Given the description of an element on the screen output the (x, y) to click on. 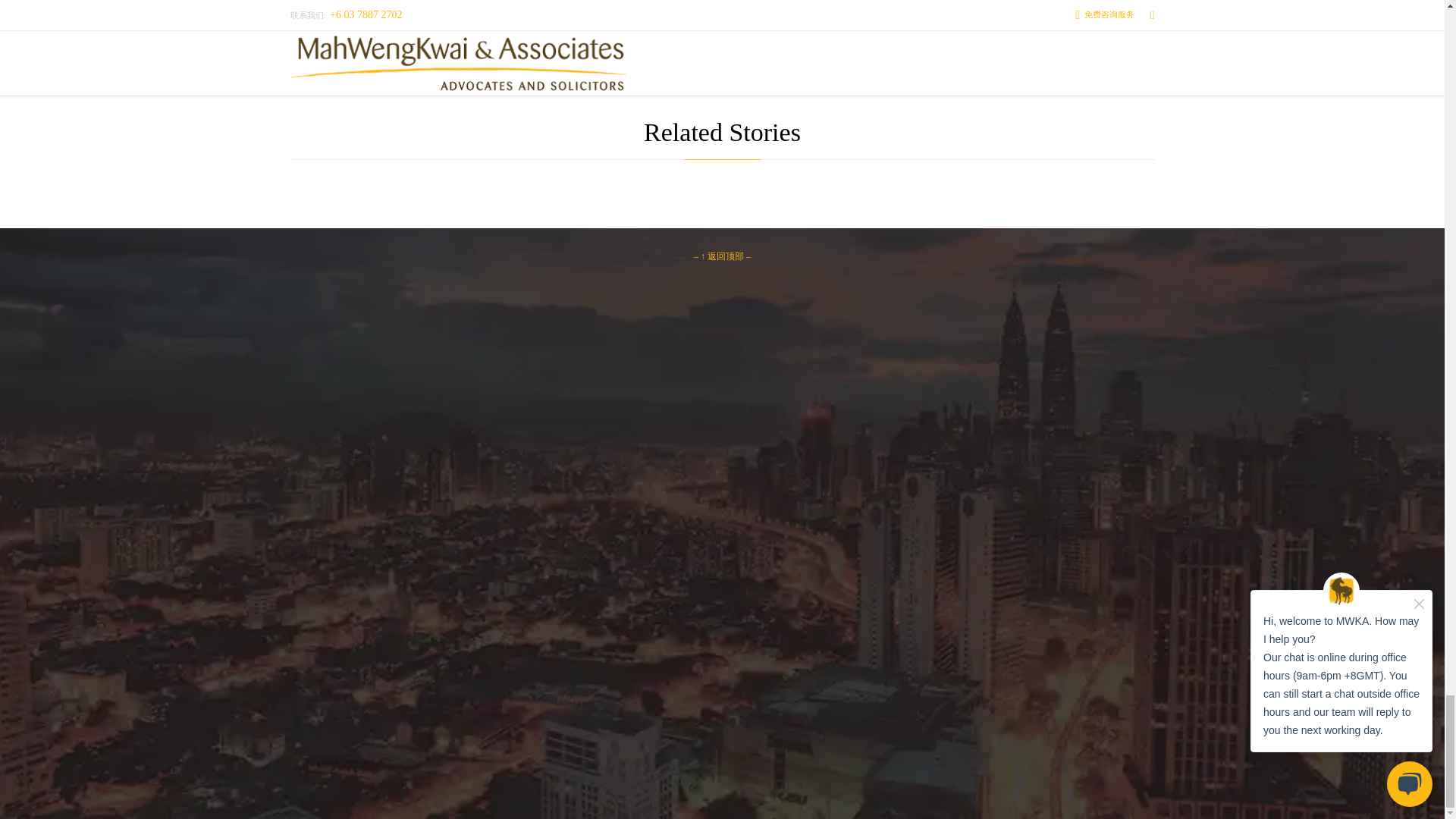
Share on Google Plus (663, 2)
Share on Twitter (598, 2)
Share on Facebook (533, 2)
